Given the description of an element on the screen output the (x, y) to click on. 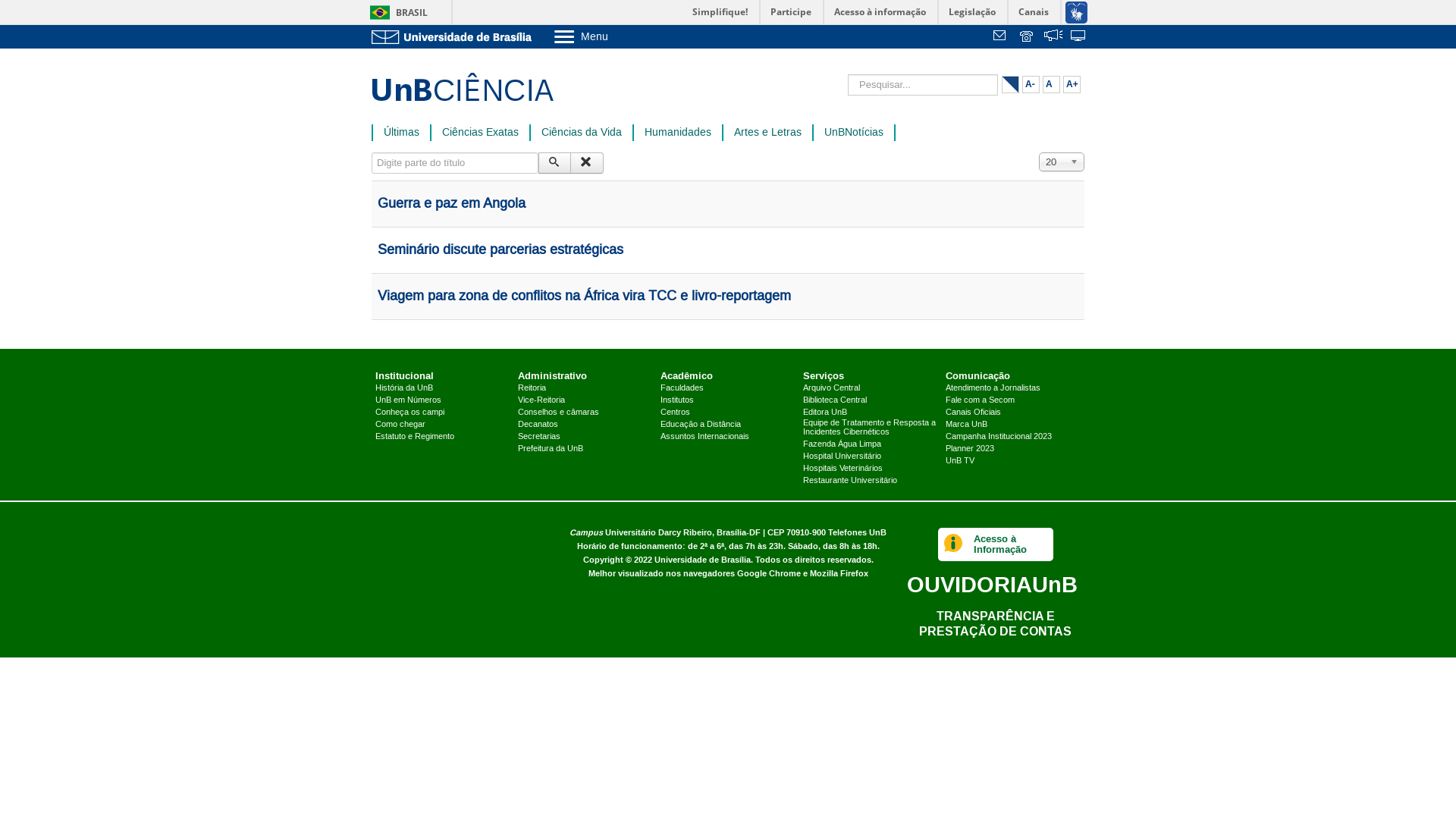
Fala.BR Element type: hover (1053, 37)
Ir para o Portal da UnB Element type: hover (454, 36)
Faculdades Element type: text (681, 387)
Artes e Letras Element type: text (767, 132)
Telefones da UnB Element type: hover (1027, 37)
Guerra e paz em Angola Element type: text (451, 203)
  Element type: text (1027, 37)
Sistemas Element type: hover (1079, 37)
Atendimento a Jornalistas Element type: text (992, 387)
Arquivo Central Element type: text (831, 387)
Canais Oficiais Element type: text (973, 412)
Humanidades Element type: text (677, 132)
OUVIDORIAUnB Element type: text (991, 584)
Planner 2023 Element type: text (969, 448)
Marca UnB Element type: text (966, 424)
Telefones UnB Element type: text (857, 532)
UnB TV Element type: text (959, 460)
  Element type: text (1001, 37)
Prefeitura da UnB Element type: text (550, 448)
Pesquisa Element type: hover (554, 162)
Fale com a Secom Element type: text (979, 399)
Biblioteca Central Element type: text (834, 399)
A- Element type: text (1030, 84)
A+ Element type: text (1071, 84)
Decanatos Element type: text (537, 424)
Editora UnB Element type: text (825, 412)
Menu Element type: text (619, 35)
  Element type: text (1079, 37)
A Element type: text (1051, 84)
Centros Element type: text (675, 412)
  Element type: text (1053, 37)
Como chegar Element type: text (400, 424)
Reitoria Element type: text (531, 387)
20 Element type: text (1061, 161)
Assuntos Internacionais Element type: text (704, 436)
Estatuto e Regimento Element type: text (414, 436)
Webmail Element type: hover (1001, 37)
Secretarias Element type: text (538, 436)
Campanha Institucional 2023 Element type: text (998, 436)
Vice-Reitoria Element type: text (540, 399)
Limpar Element type: hover (586, 162)
Institutos Element type: text (676, 399)
BRASIL Element type: text (396, 12)
